Given the description of an element on the screen output the (x, y) to click on. 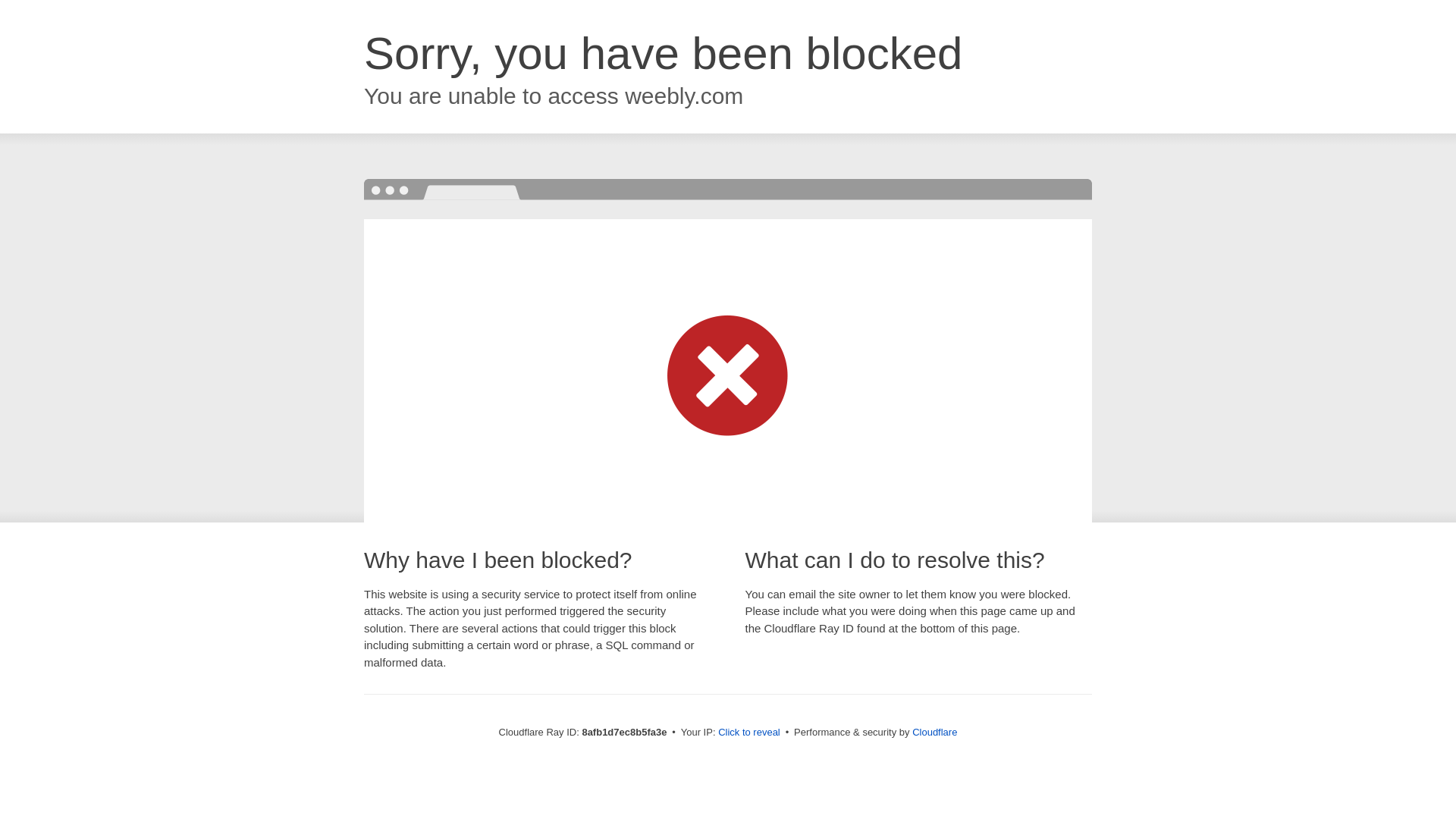
Cloudflare (934, 731)
Click to reveal (748, 732)
